Given the description of an element on the screen output the (x, y) to click on. 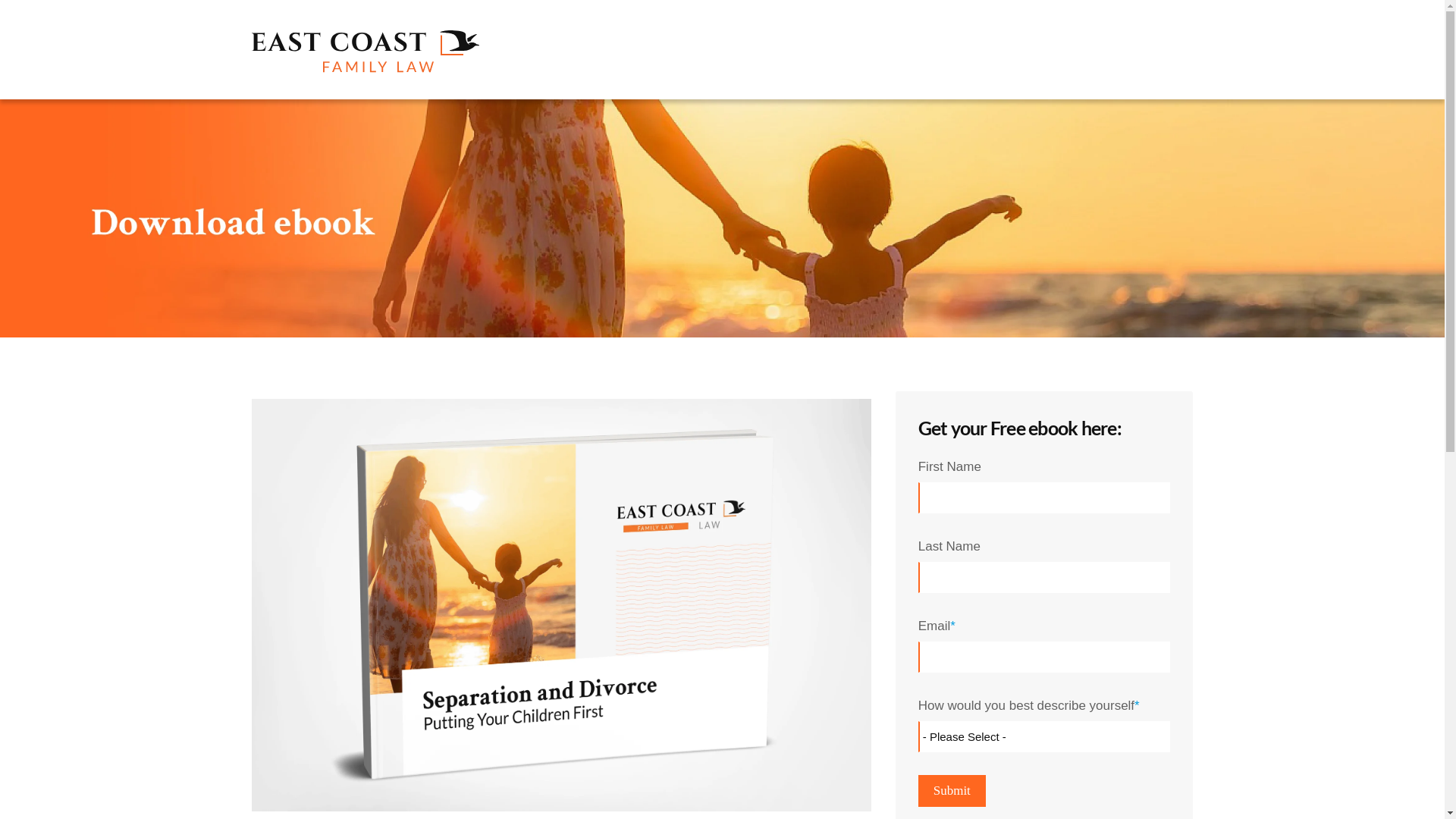
Separation-&-Divorce-ebook-Desktop Element type: hover (722, 218)
Submit Element type: text (951, 790)
